Given the description of an element on the screen output the (x, y) to click on. 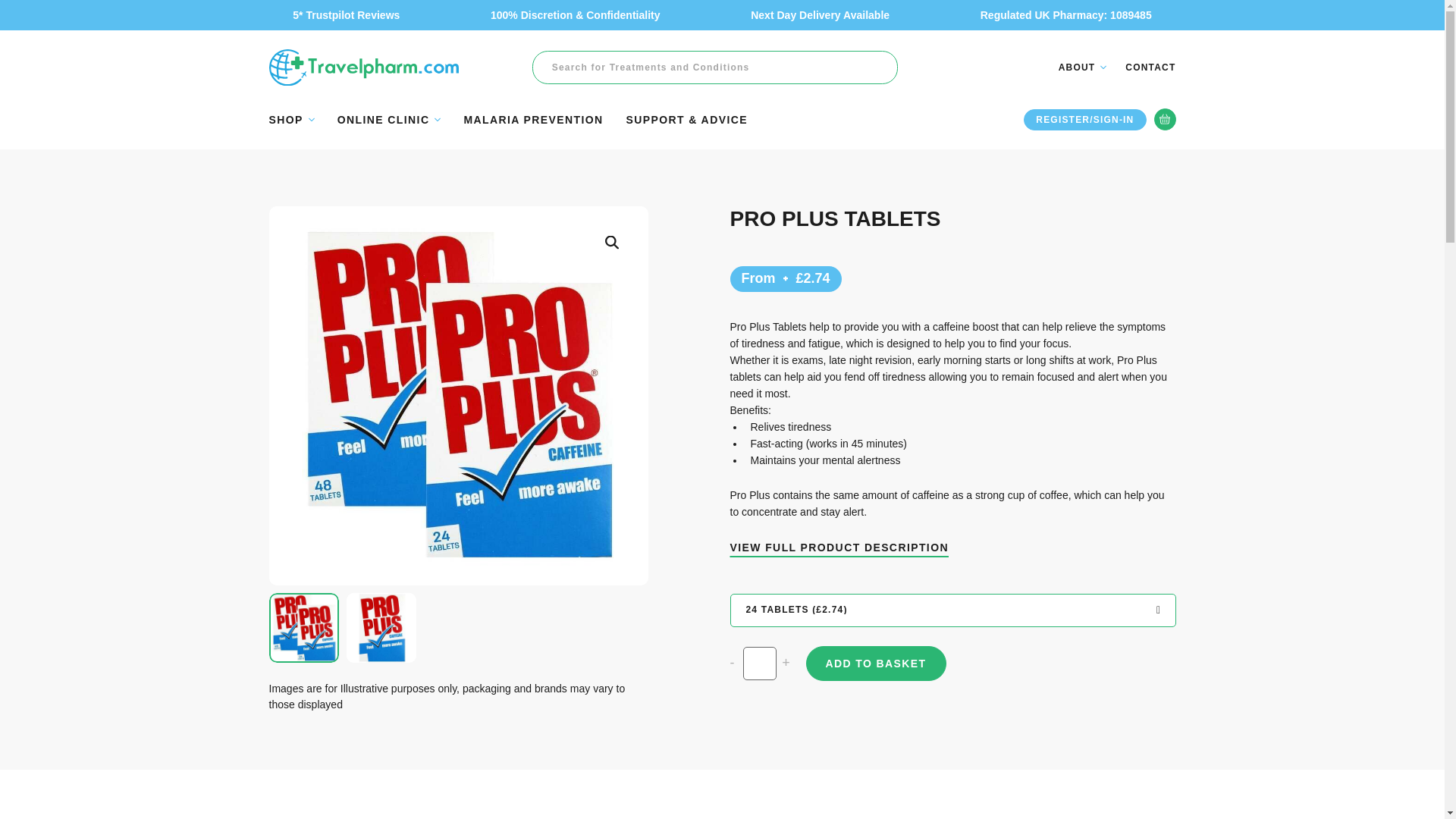
View basket (1165, 119)
ABOUT (1082, 67)
Customer reviews powered by Trustpilot (801, 246)
CONTACT (1149, 67)
SHOP (290, 119)
